Given the description of an element on the screen output the (x, y) to click on. 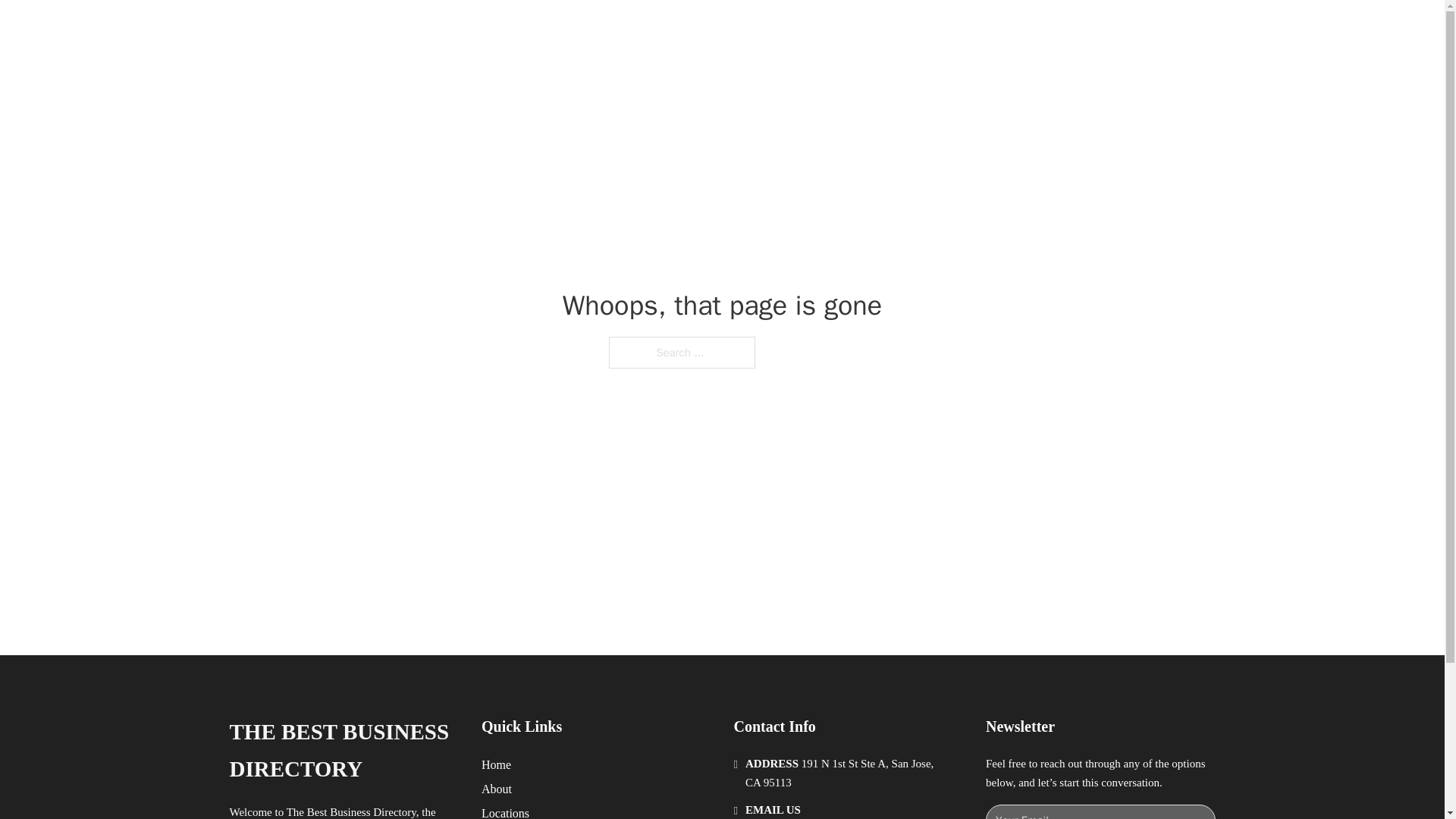
Locations (505, 811)
THE BEST BUSINESS DIRECTORY (343, 750)
THE BEST BUSINESS DIRECTORY (468, 28)
LOCATIONS (990, 29)
About (496, 788)
Home (496, 764)
HOME (919, 29)
